Given the description of an element on the screen output the (x, y) to click on. 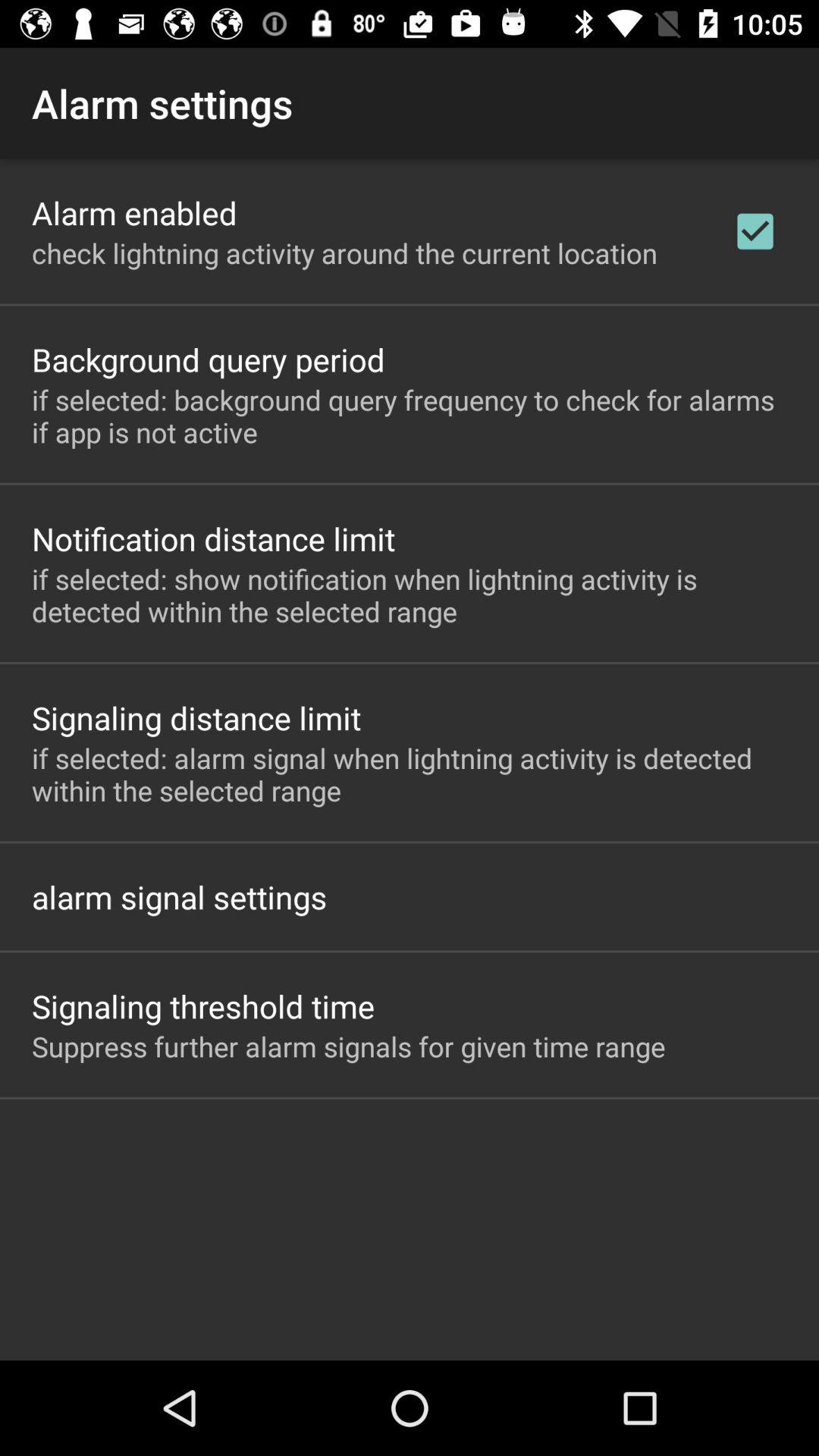
launch checkbox at the top right corner (755, 231)
